Given the description of an element on the screen output the (x, y) to click on. 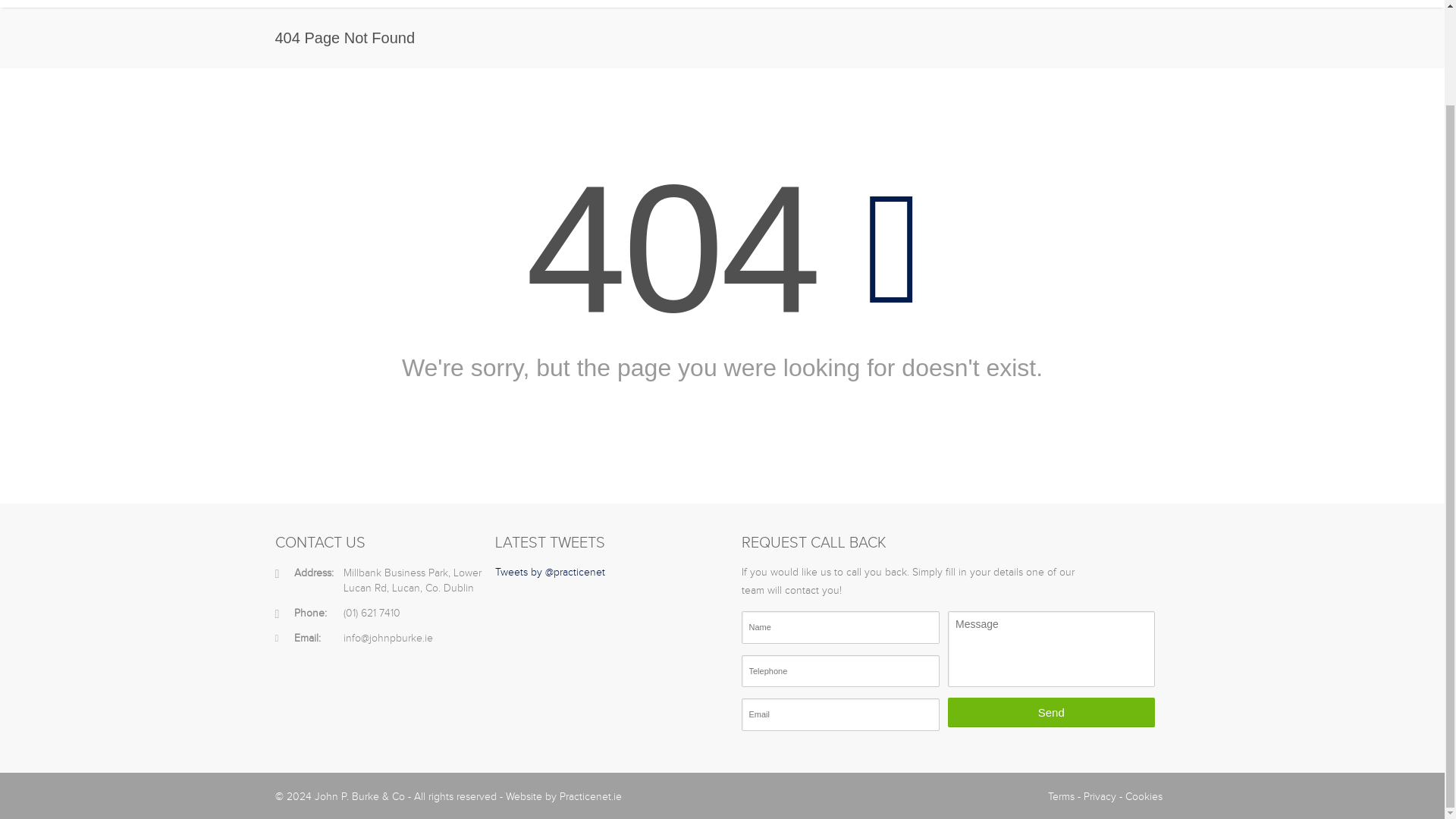
News (929, 3)
Terms (1061, 797)
Services (726, 3)
Send (1050, 712)
About (665, 3)
Pay (1074, 3)
Contact Us (1136, 3)
Cookies (1143, 797)
Home (608, 3)
Tax Info (792, 3)
